Given the description of an element on the screen output the (x, y) to click on. 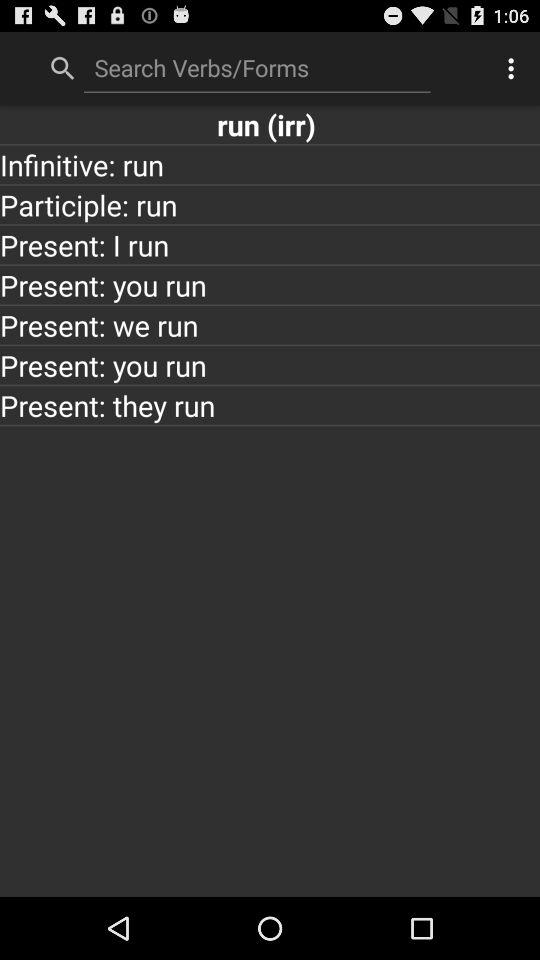
turn on the app below the run (irr)  icon (270, 164)
